Given the description of an element on the screen output the (x, y) to click on. 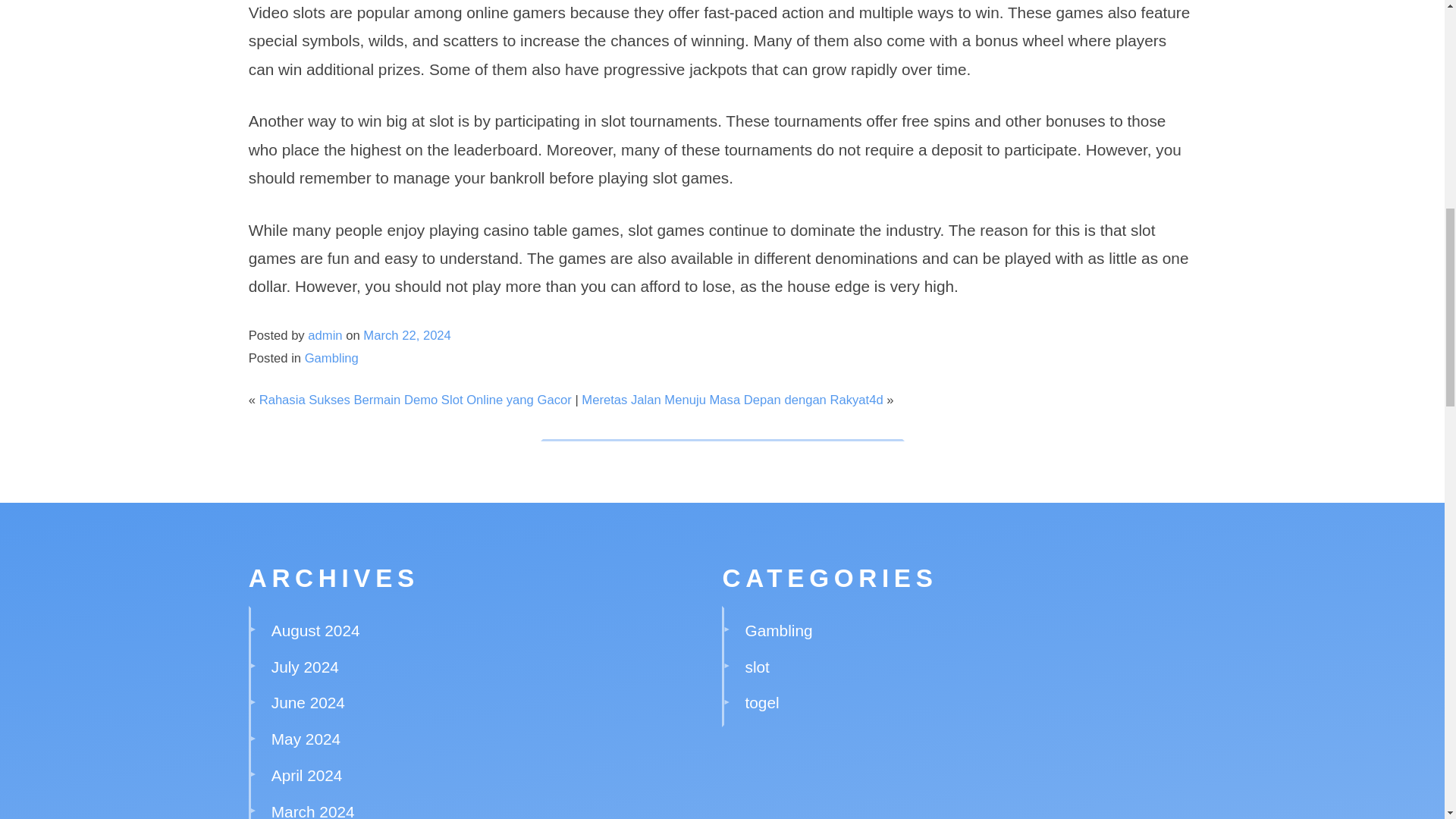
Meretas Jalan Menuju Masa Depan dengan Rakyat4d (731, 400)
August 2024 (314, 630)
June 2024 (307, 702)
March 2024 (312, 811)
July 2024 (304, 666)
Rahasia Sukses Bermain Demo Slot Online yang Gacor (415, 400)
April 2024 (306, 774)
March 22, 2024 (406, 335)
Gambling (331, 358)
admin (324, 335)
